Given the description of an element on the screen output the (x, y) to click on. 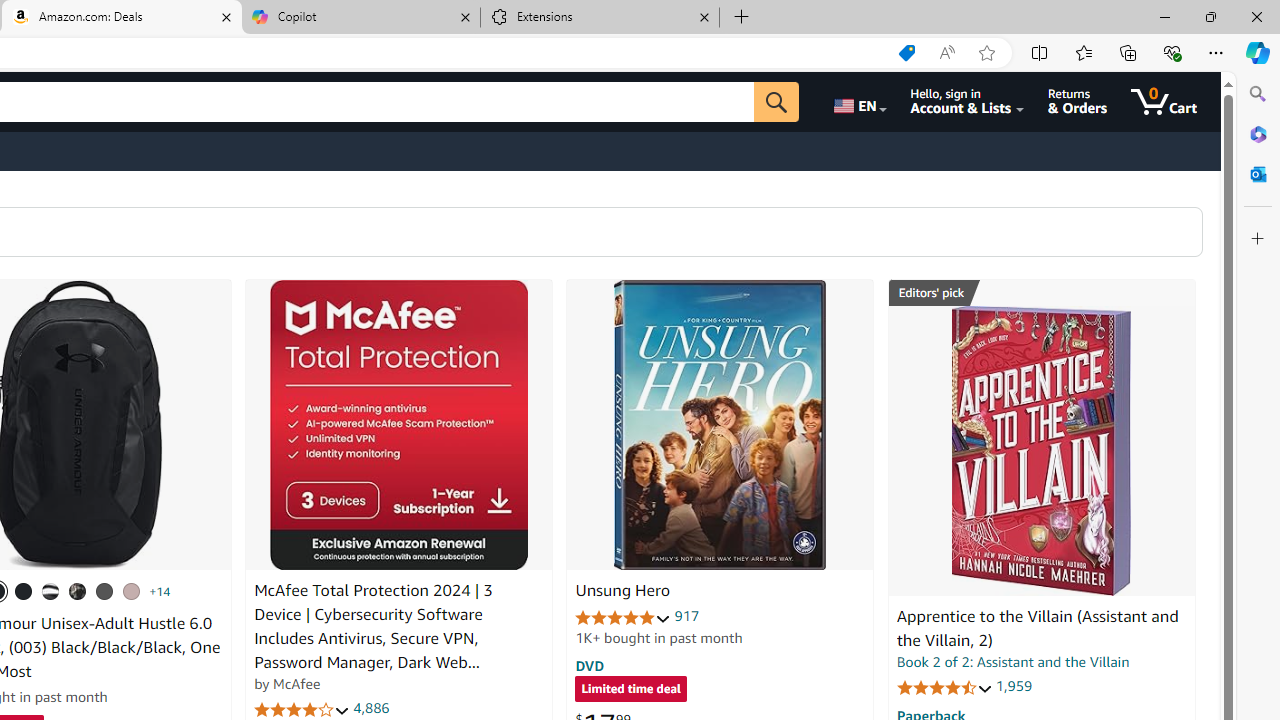
4.6 out of 5 stars (944, 686)
Close Outlook pane (1258, 174)
Microsoft 365 (1258, 133)
